Given the description of an element on the screen output the (x, y) to click on. 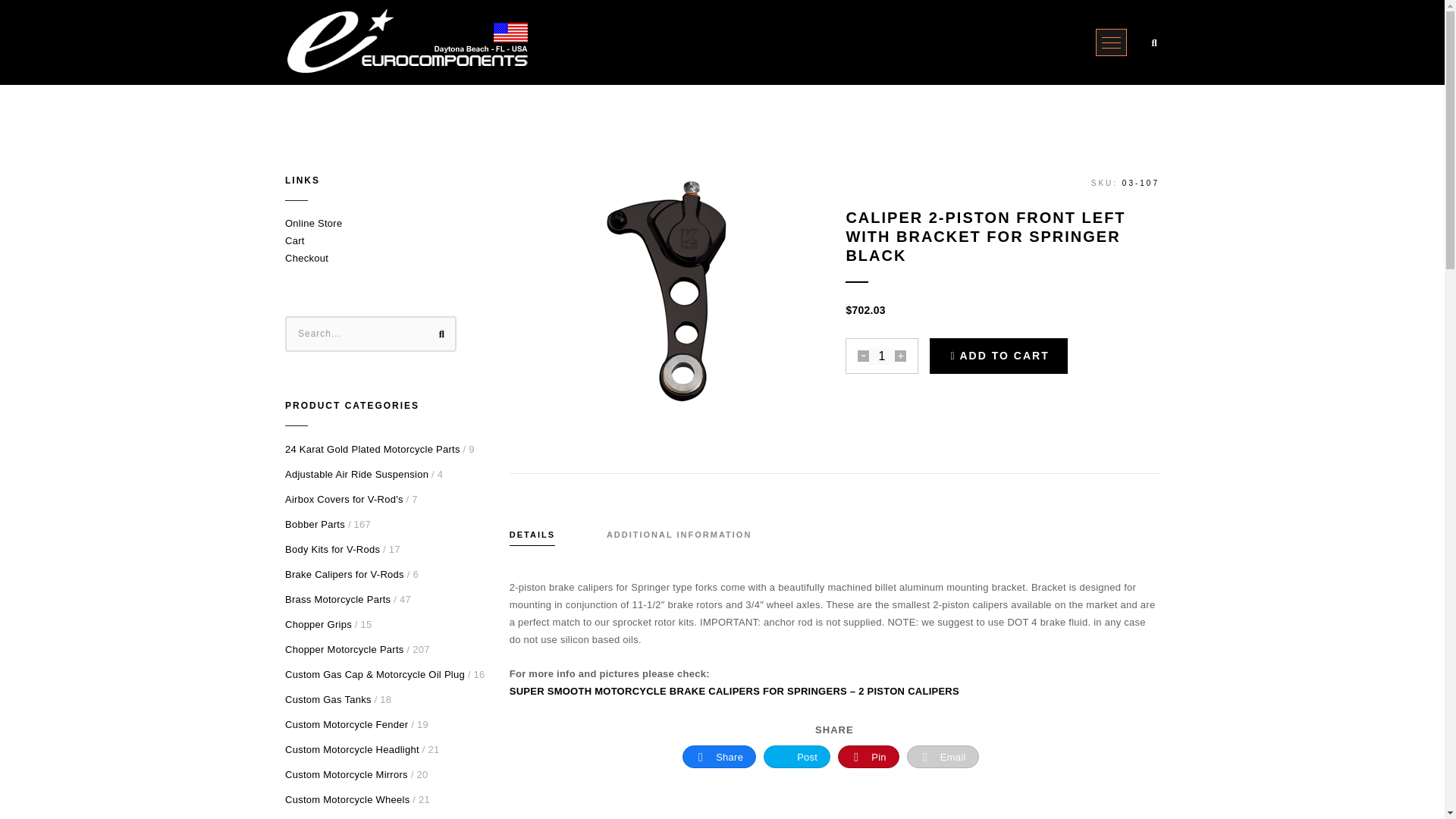
Qty (882, 355)
caliper 2-piston front left with bracket for springer black (666, 290)
1 (882, 355)
- (863, 355)
